Given the description of an element on the screen output the (x, y) to click on. 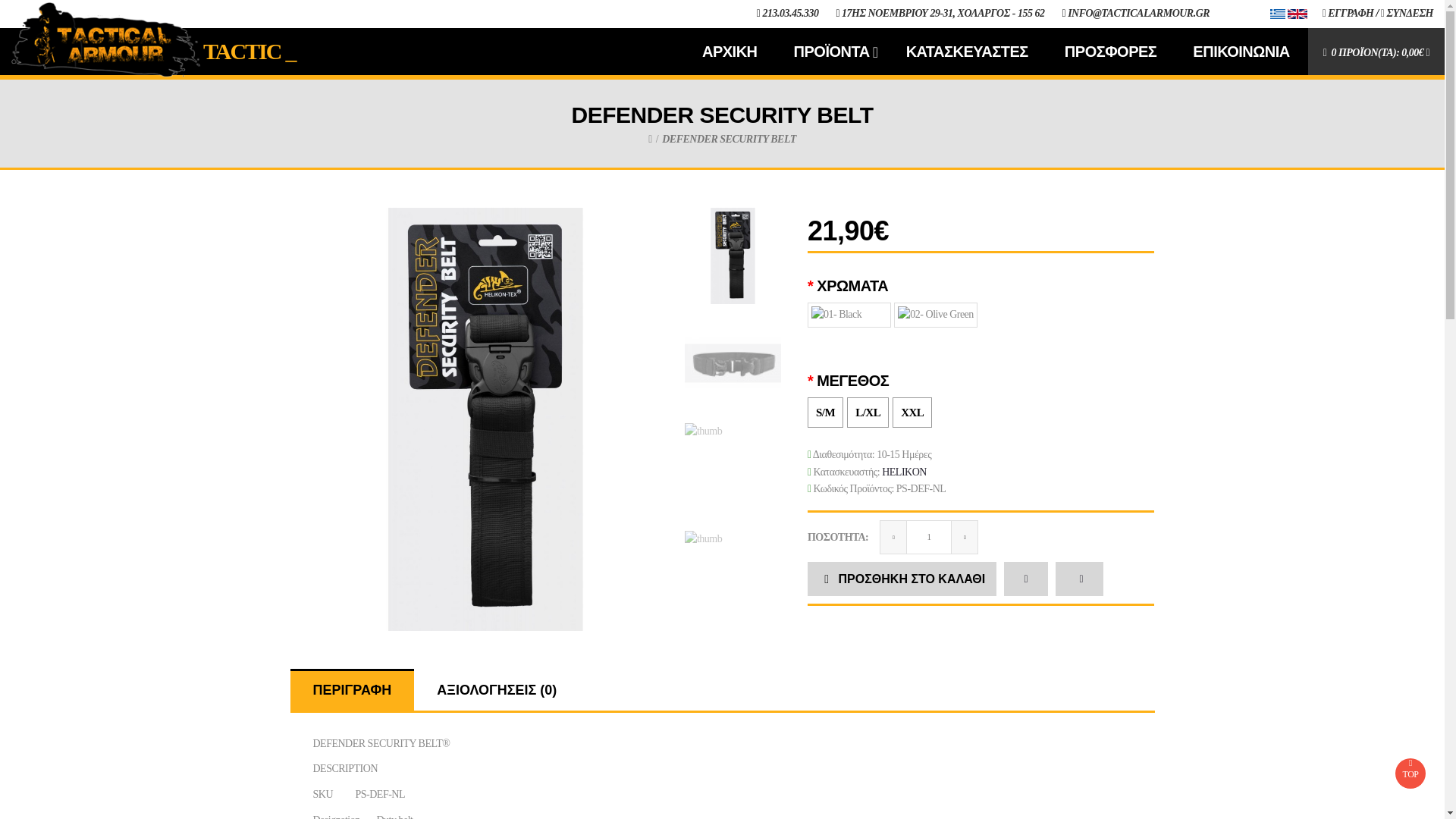
TOP (1409, 773)
Tacticalarmour (105, 39)
1 (928, 537)
213.03.45.330 (789, 12)
